Given the description of an element on the screen output the (x, y) to click on. 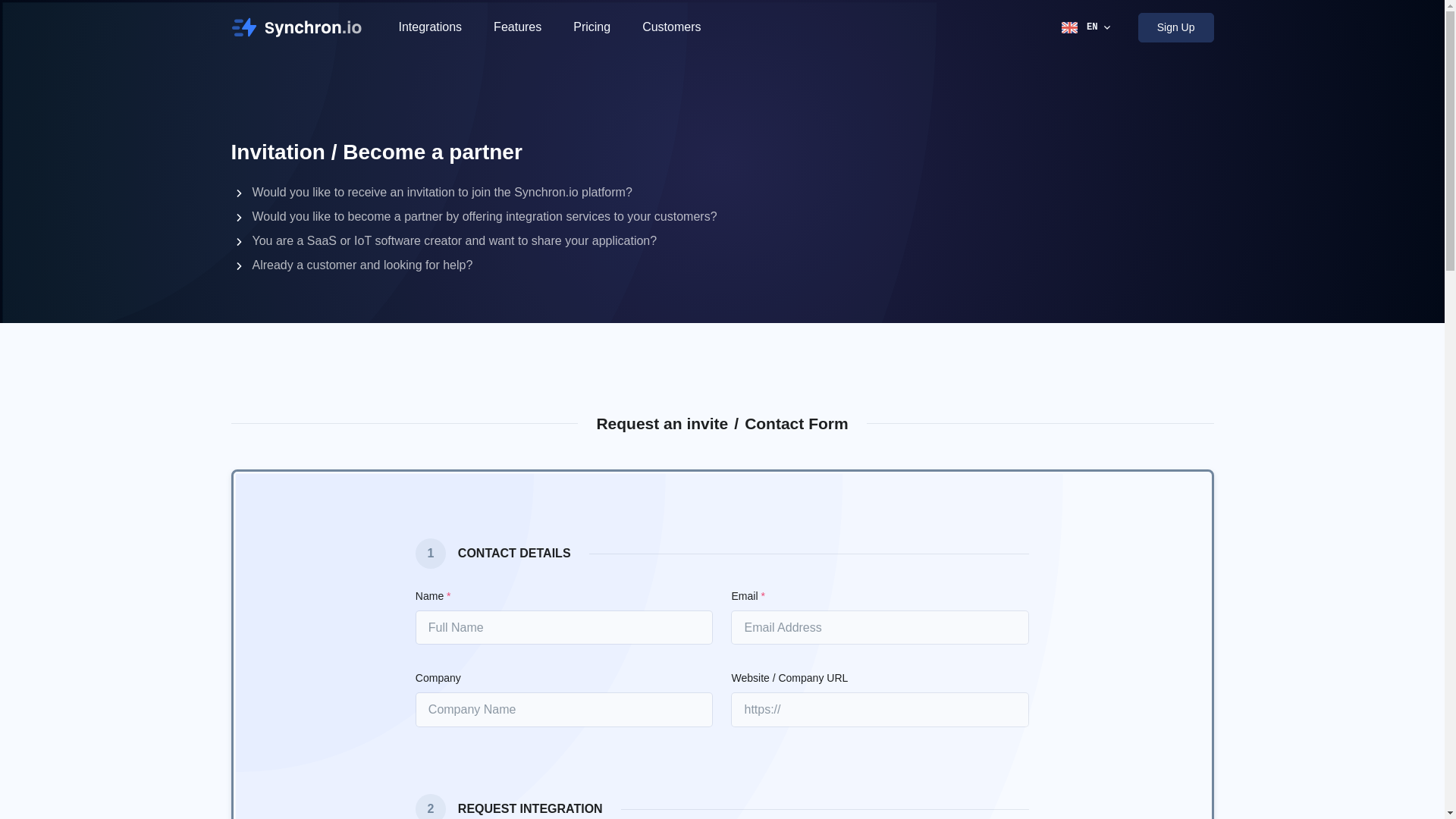
Synchron.io (301, 26)
Integrations (429, 27)
EN (1086, 26)
Features (517, 27)
Sign Up (1176, 26)
Pricing (591, 27)
Customers (670, 27)
